Given the description of an element on the screen output the (x, y) to click on. 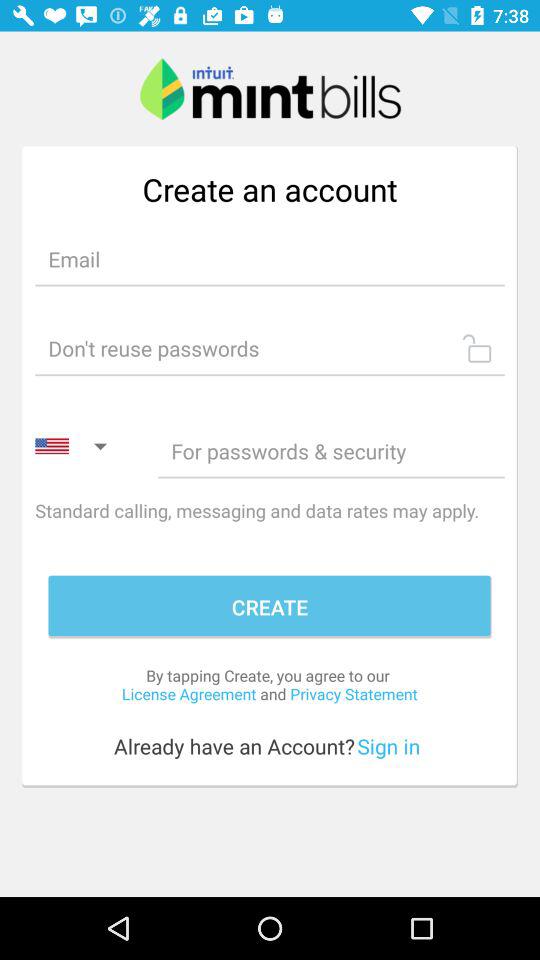
password lock (269, 348)
